Given the description of an element on the screen output the (x, y) to click on. 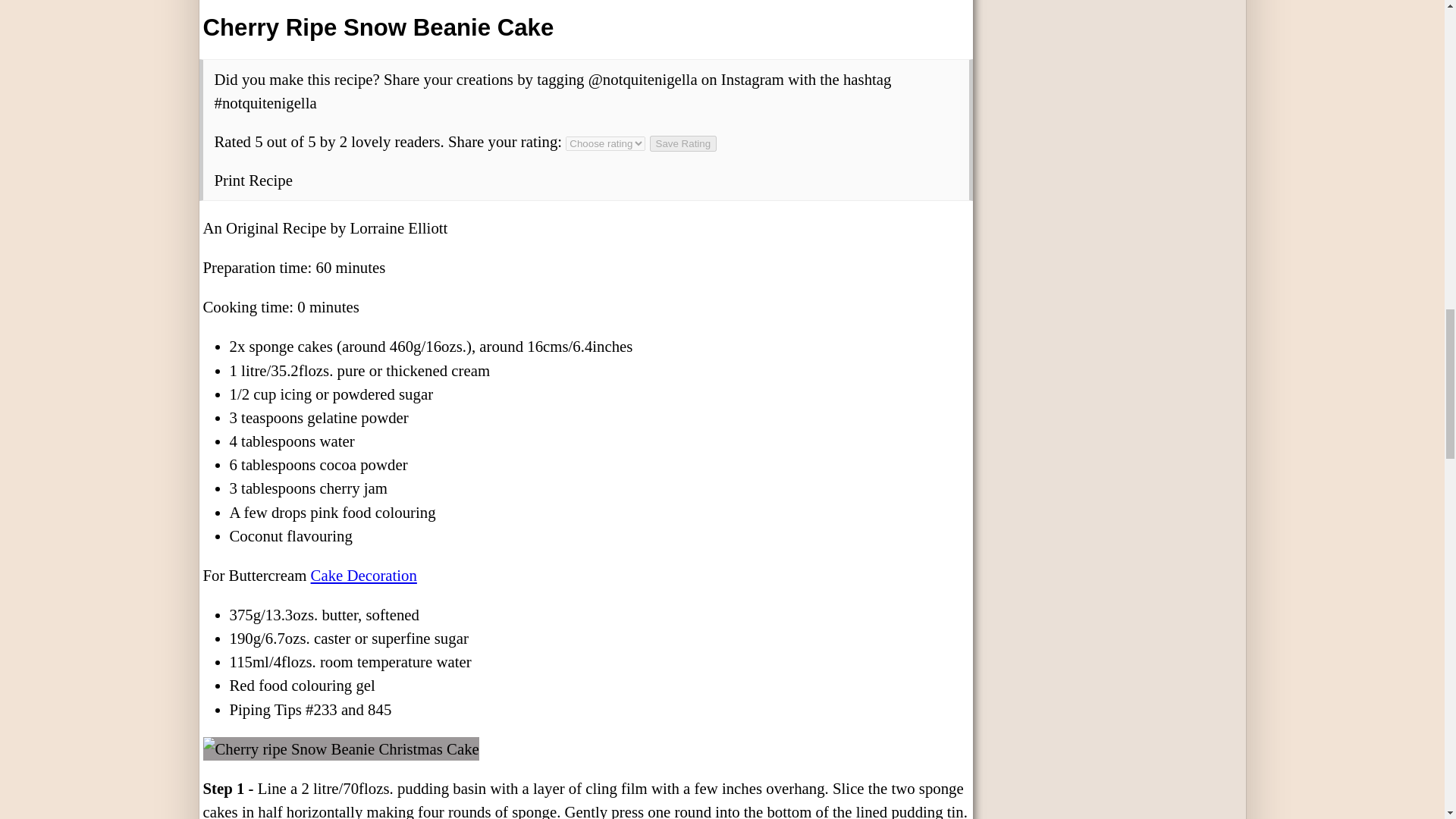
Cake Decoration (363, 574)
Save Rating (683, 143)
Print Recipe (253, 180)
